Given the description of an element on the screen output the (x, y) to click on. 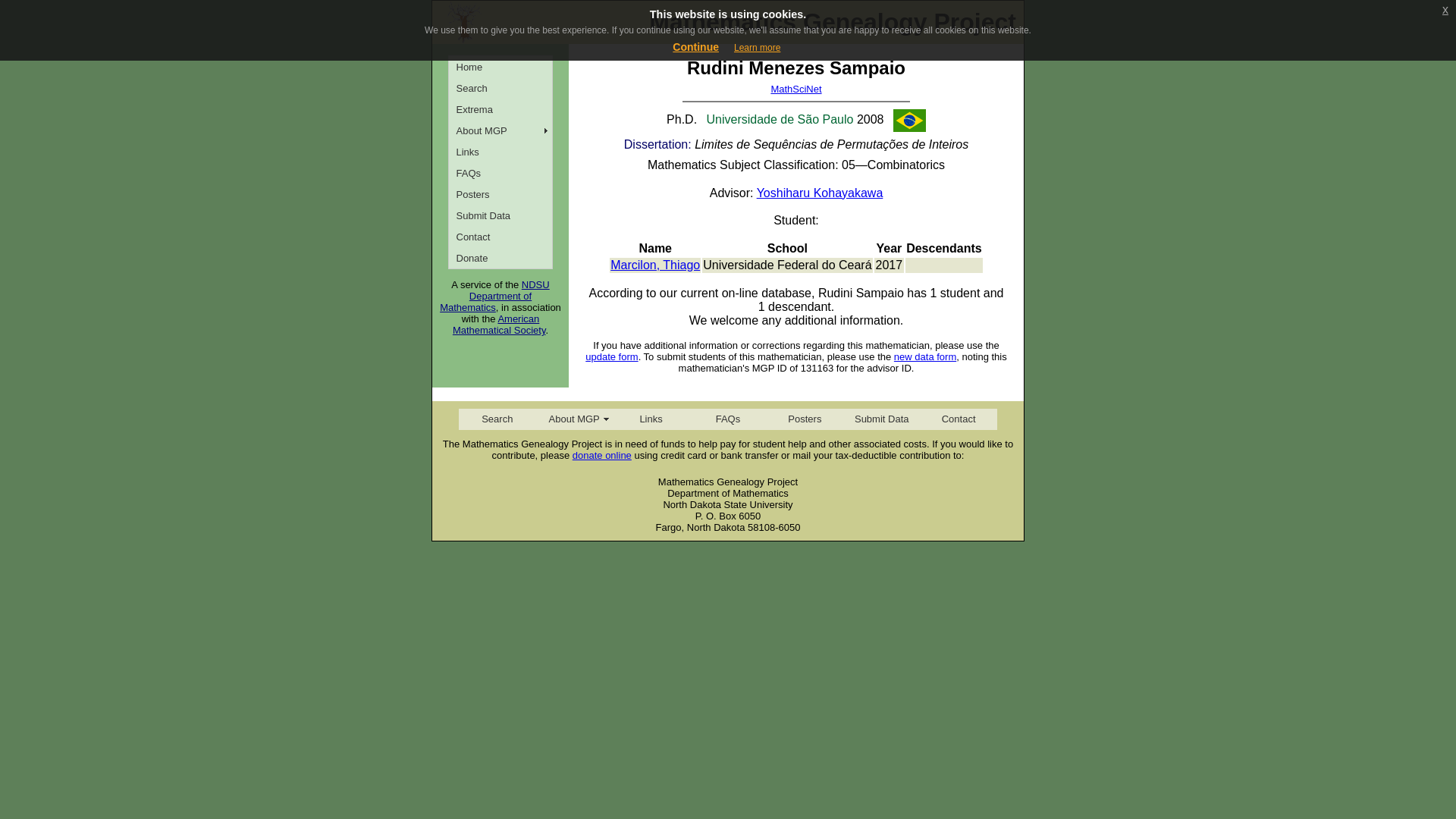
new data form (924, 356)
Search (496, 418)
Extrema (500, 108)
Continue (695, 46)
Yoshiharu Kohayakawa (820, 192)
About MGP (500, 129)
FAQs (500, 172)
Contact (957, 418)
update form (611, 356)
Donate (500, 257)
